Given the description of an element on the screen output the (x, y) to click on. 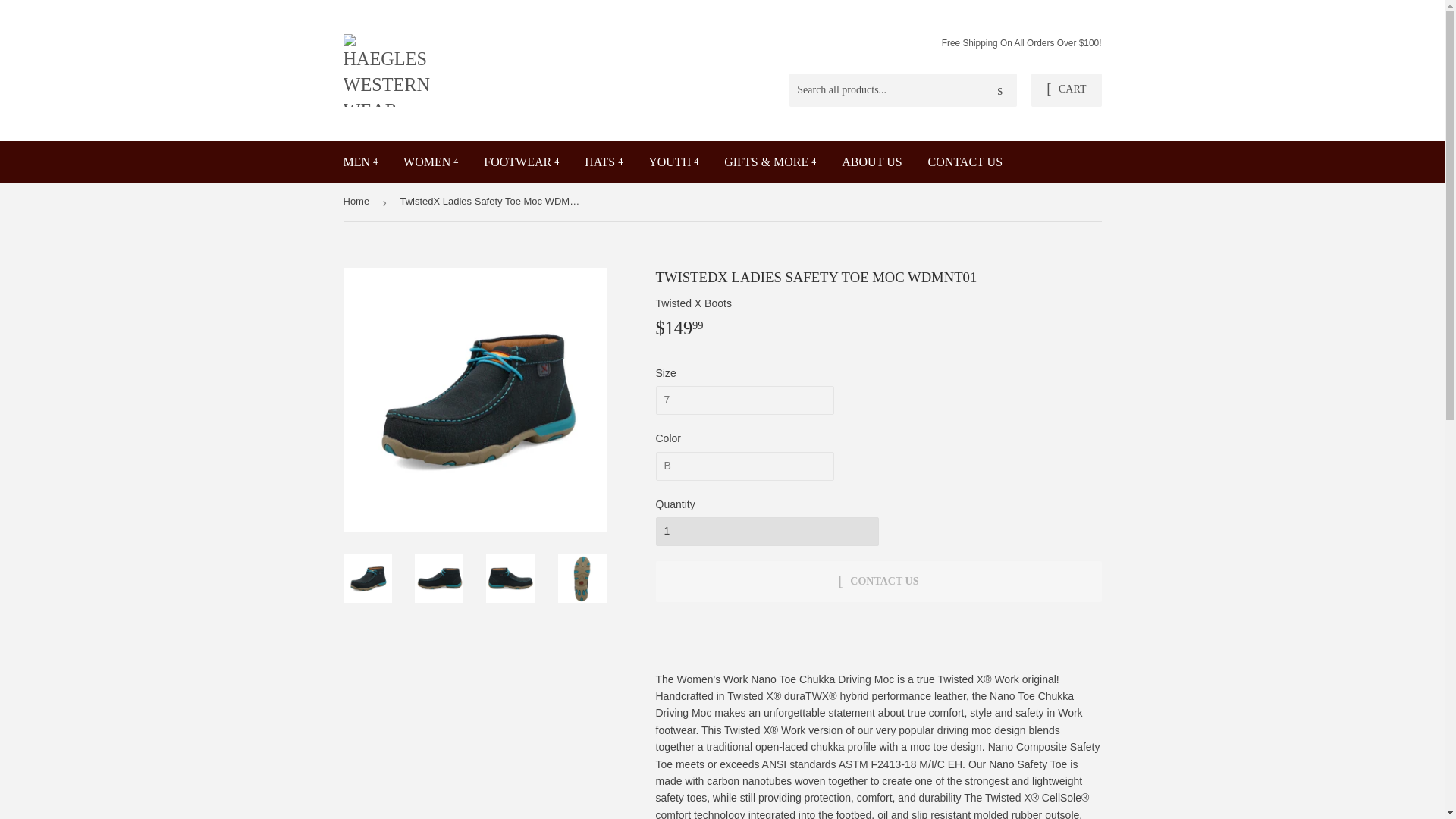
Search (999, 91)
1 (766, 531)
CART (1065, 90)
